Given the description of an element on the screen output the (x, y) to click on. 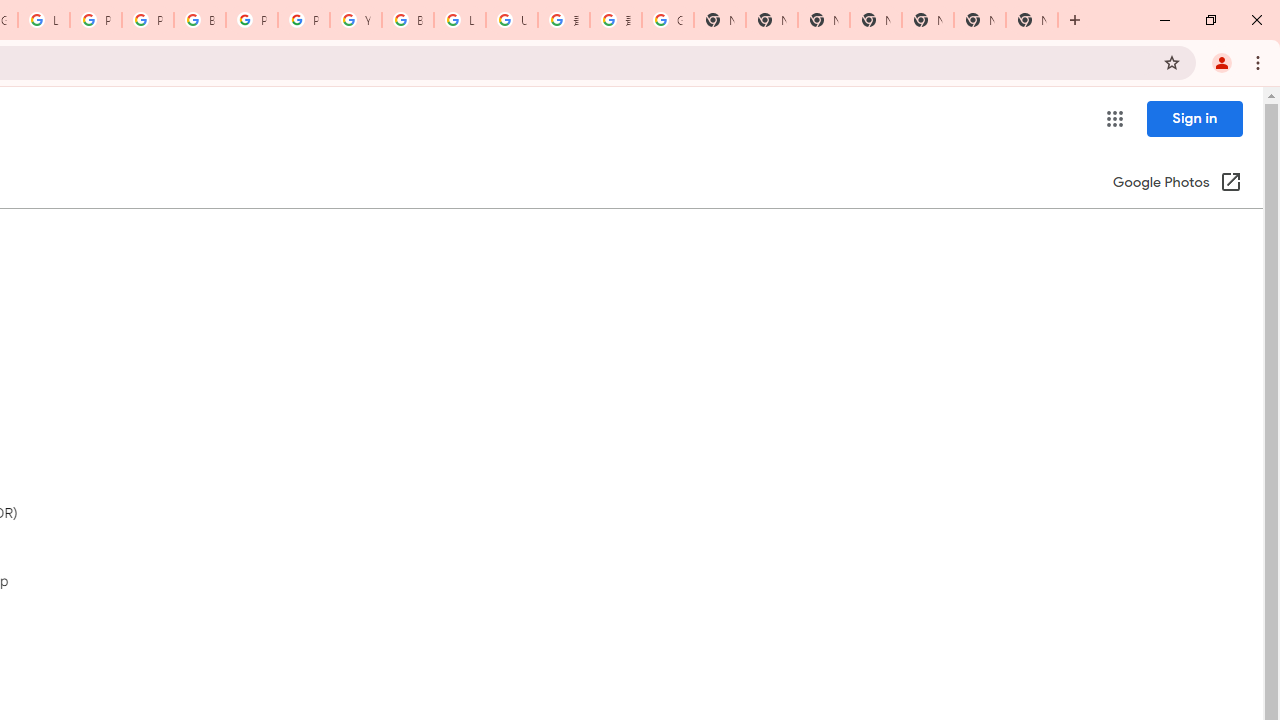
Privacy Help Center - Policies Help (147, 20)
New Tab (1032, 20)
Google Photos (Open in a new window) (1177, 183)
Google Images (667, 20)
